Given the description of an element on the screen output the (x, y) to click on. 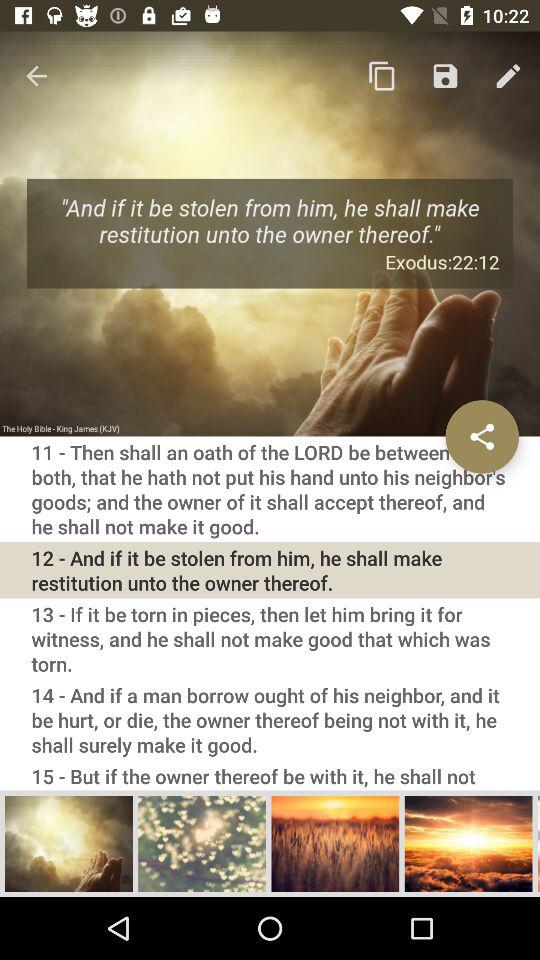
share button (482, 436)
